Given the description of an element on the screen output the (x, y) to click on. 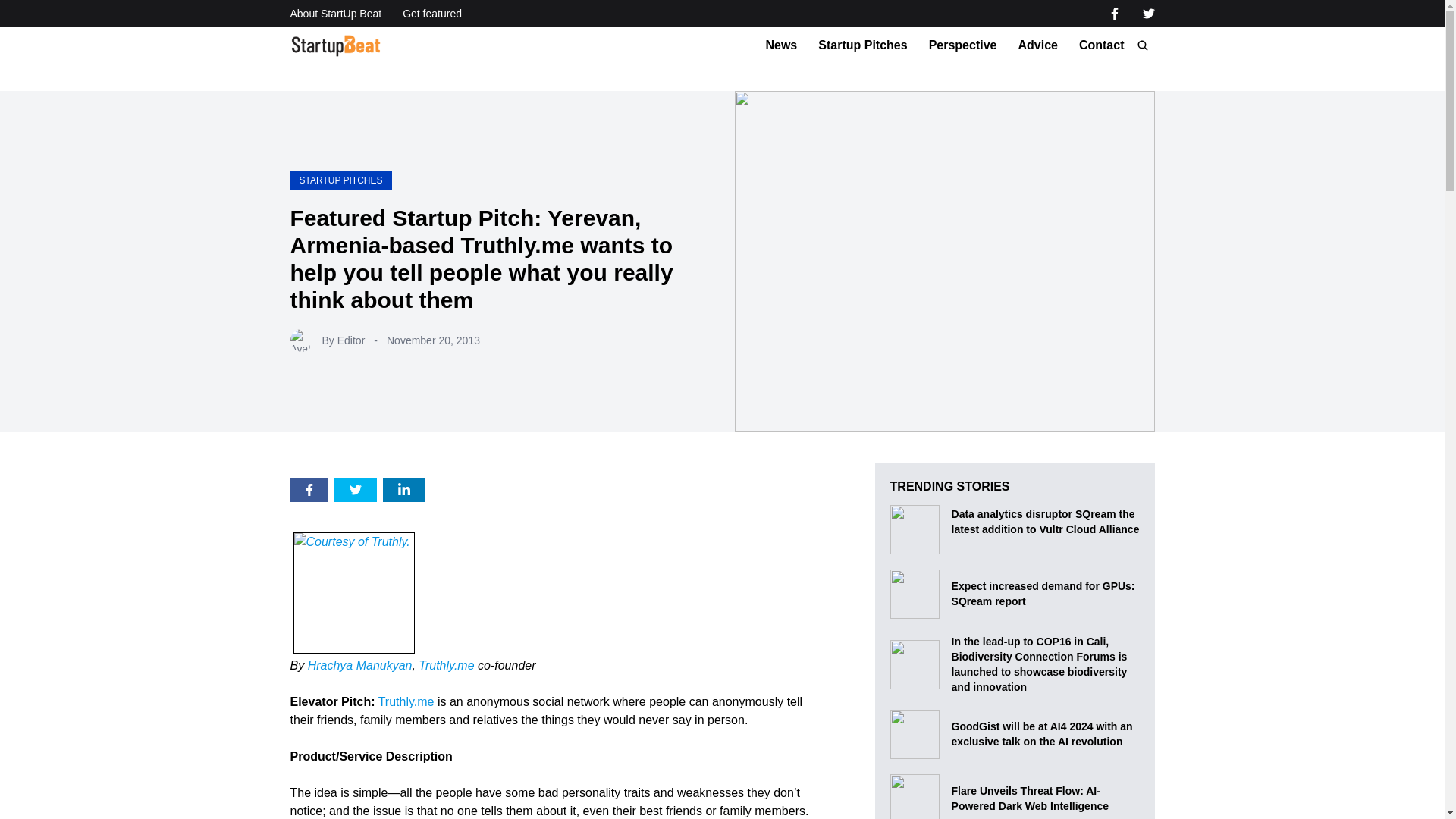
Advice (1037, 45)
Hrachya Manukyan (359, 665)
Perspective (962, 45)
About StartUp Beat (335, 13)
STARTUP PITCHES (340, 180)
News (780, 45)
Contact (1101, 45)
Get featured (432, 13)
Truthly.me (405, 701)
Truthly.me (446, 665)
